Given the description of an element on the screen output the (x, y) to click on. 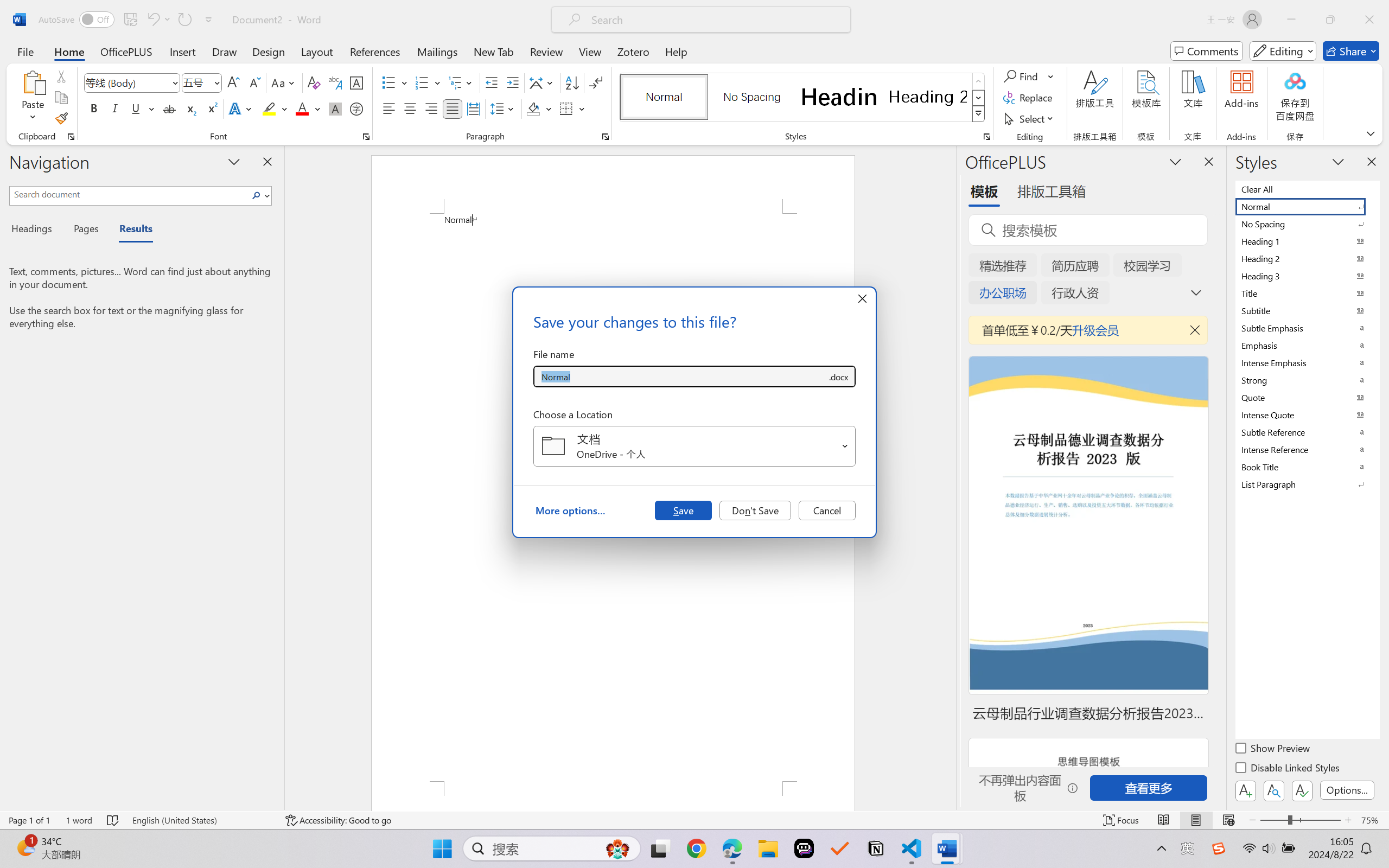
Row up (978, 81)
Intense Quote (1306, 414)
Font (126, 82)
Font Color Red (302, 108)
Mailings (437, 51)
Bullets (395, 82)
Office Clipboard... (70, 136)
Subtitle (1306, 310)
Intense Emphasis (1306, 362)
Decrease Indent (491, 82)
Pages (85, 229)
